Given the description of an element on the screen output the (x, y) to click on. 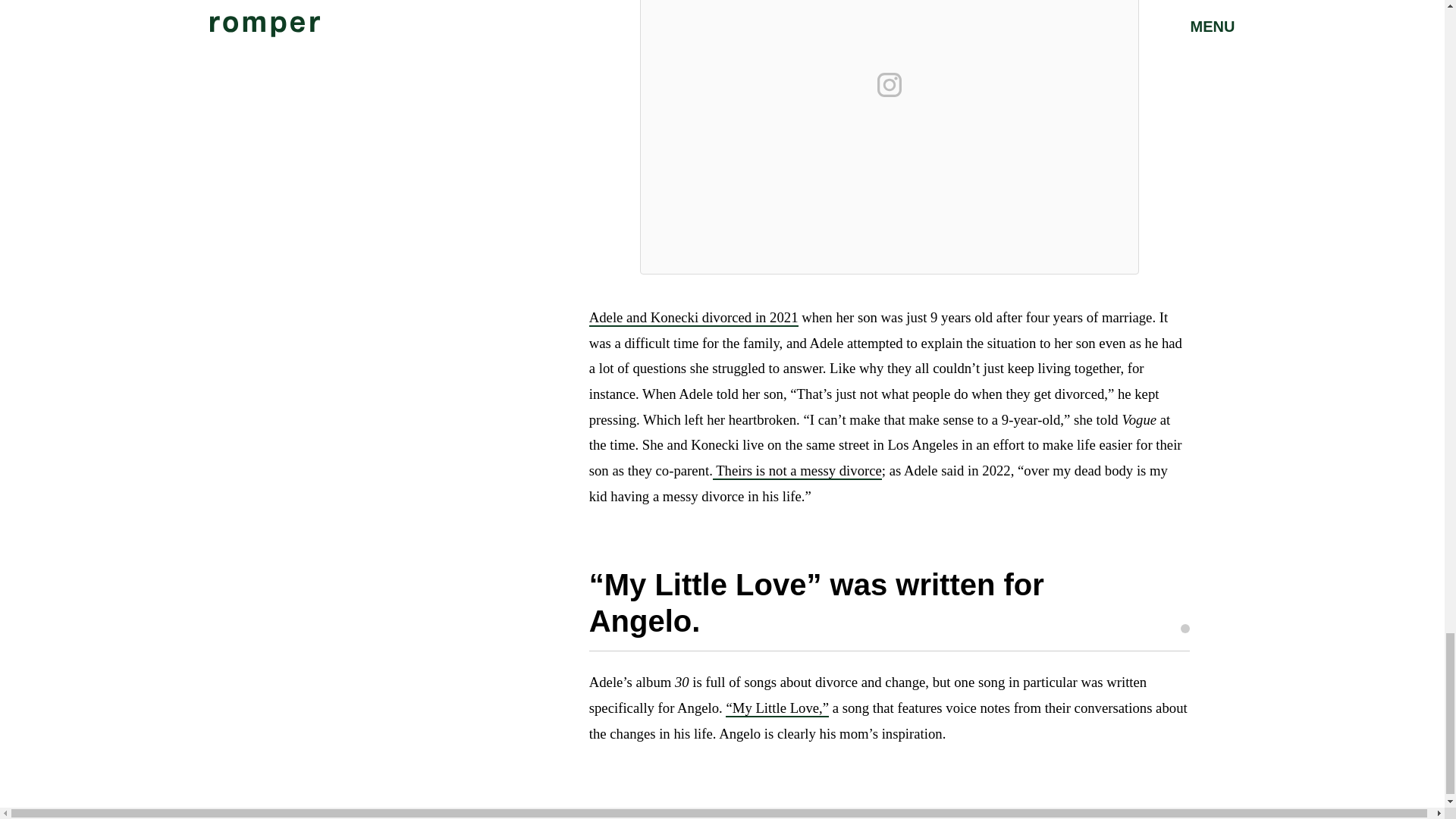
View on Instagram (888, 84)
Adele and Konecki divorced in 2021 (693, 317)
Theirs is not a messy divorce (797, 470)
